Given the description of an element on the screen output the (x, y) to click on. 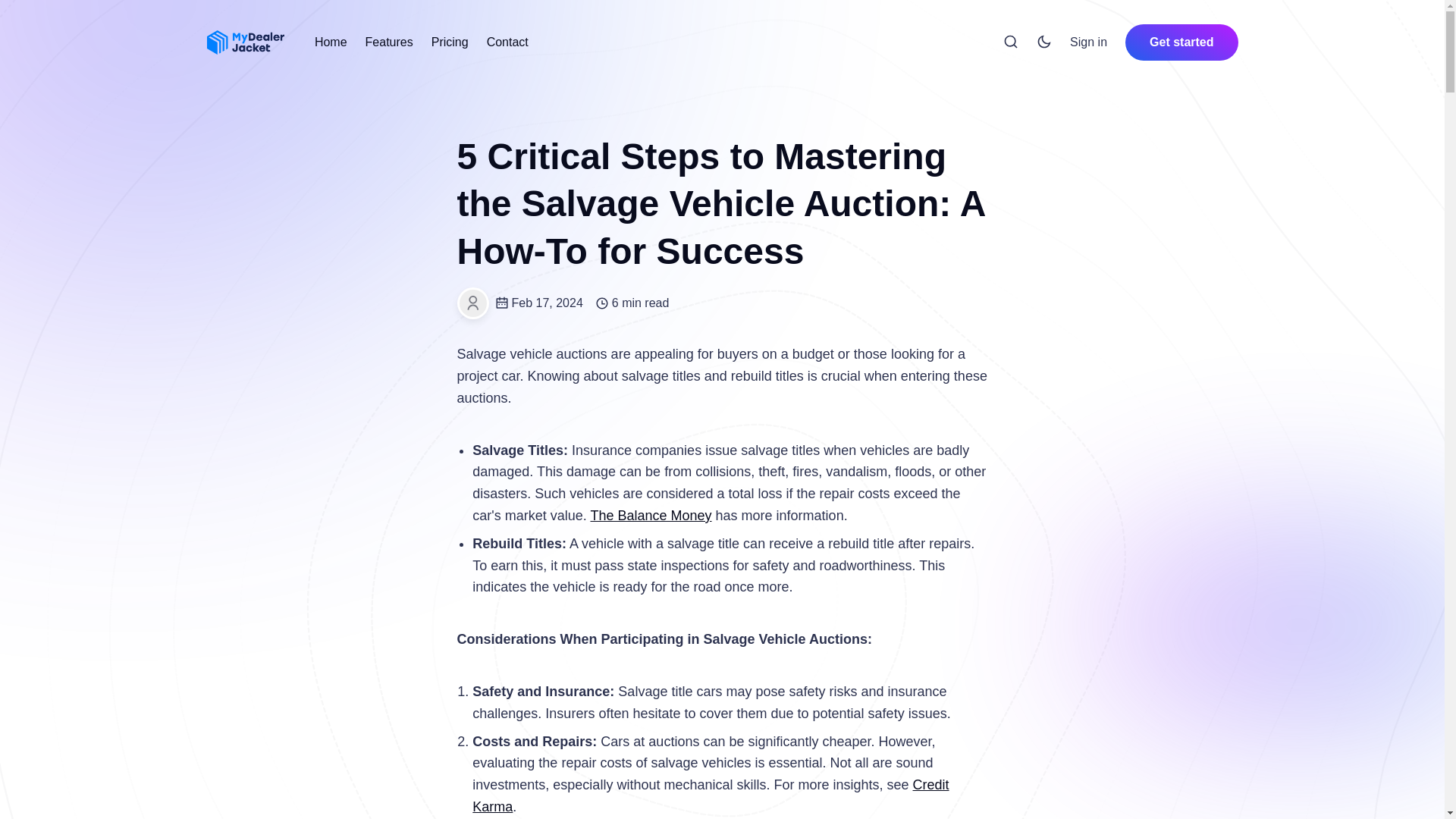
Jose Betancourt (472, 303)
Jose Betancourt (472, 303)
Home (330, 42)
Contact (507, 42)
Get started (1181, 42)
Sign in (1088, 42)
Credit Karma (710, 795)
The Balance Money (650, 515)
Features (389, 42)
Pricing (449, 42)
